Given the description of an element on the screen output the (x, y) to click on. 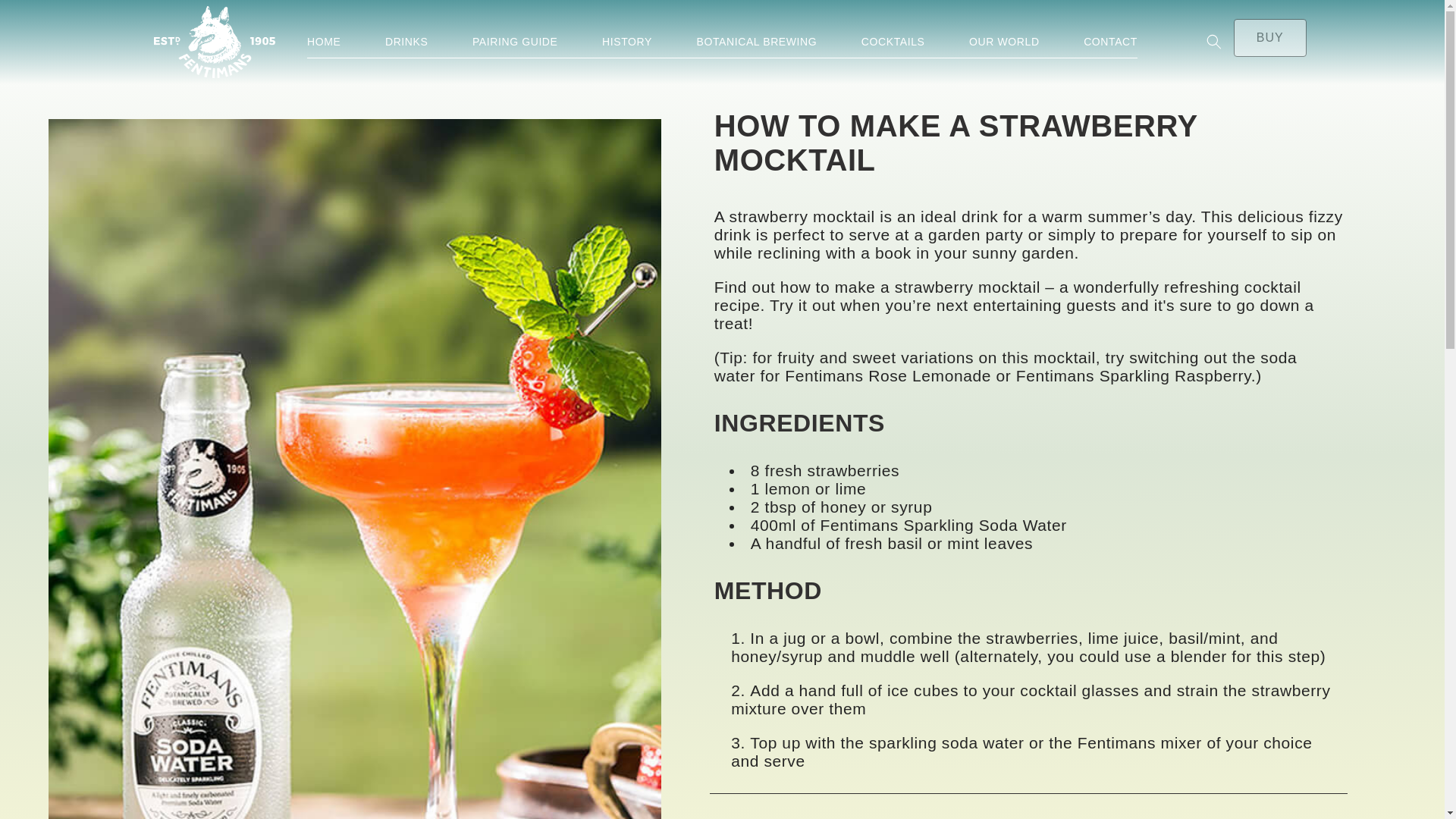
BUY (1269, 37)
HISTORY (627, 41)
COCKTAILS (892, 41)
OUR WORLD (1004, 41)
CONTACT (1110, 41)
DRINKS (406, 41)
HOME (323, 41)
PAIRING GUIDE (514, 41)
BOTANICAL BREWING (756, 41)
